Given the description of an element on the screen output the (x, y) to click on. 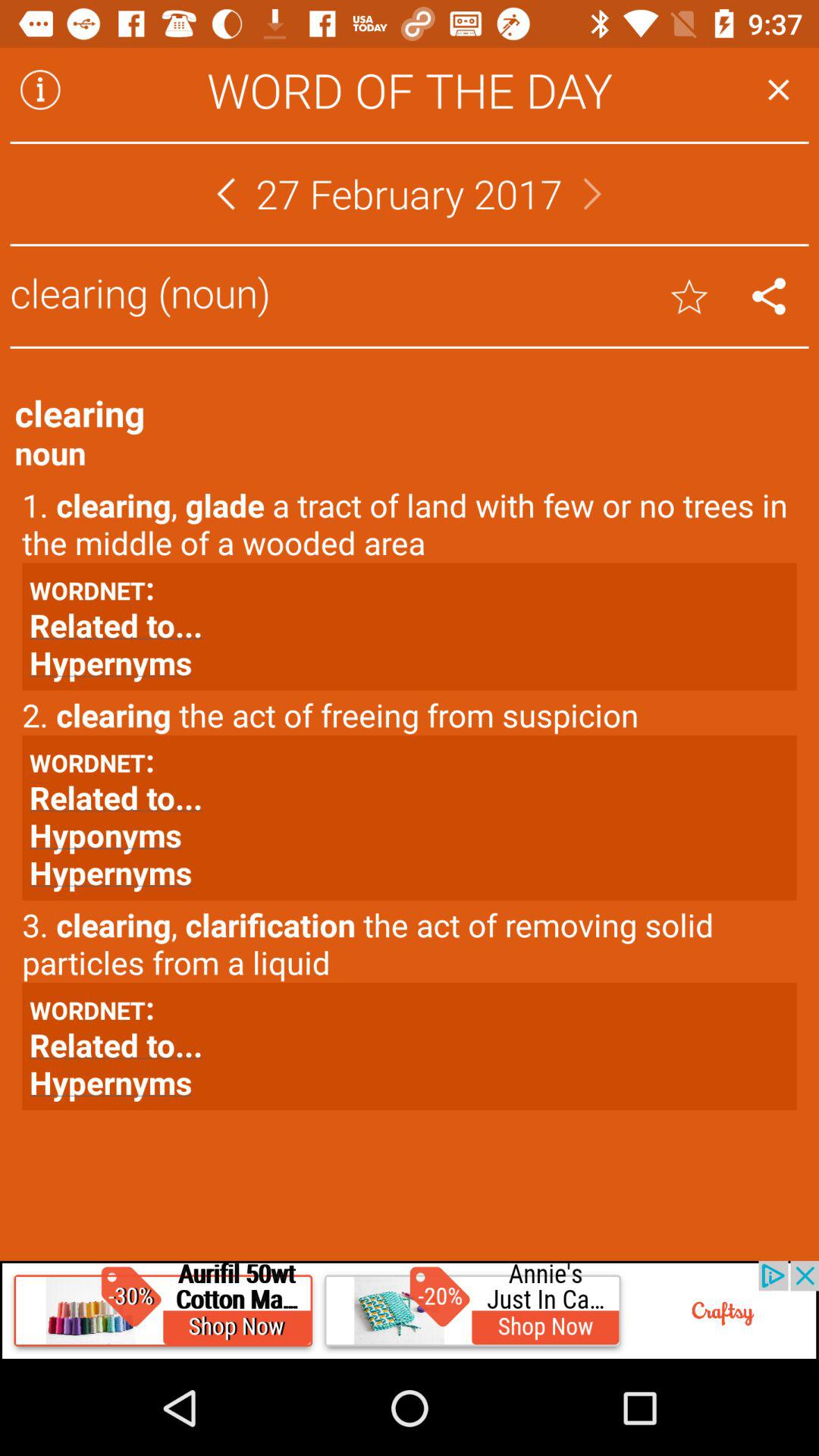
add the picture (409, 1310)
